Given the description of an element on the screen output the (x, y) to click on. 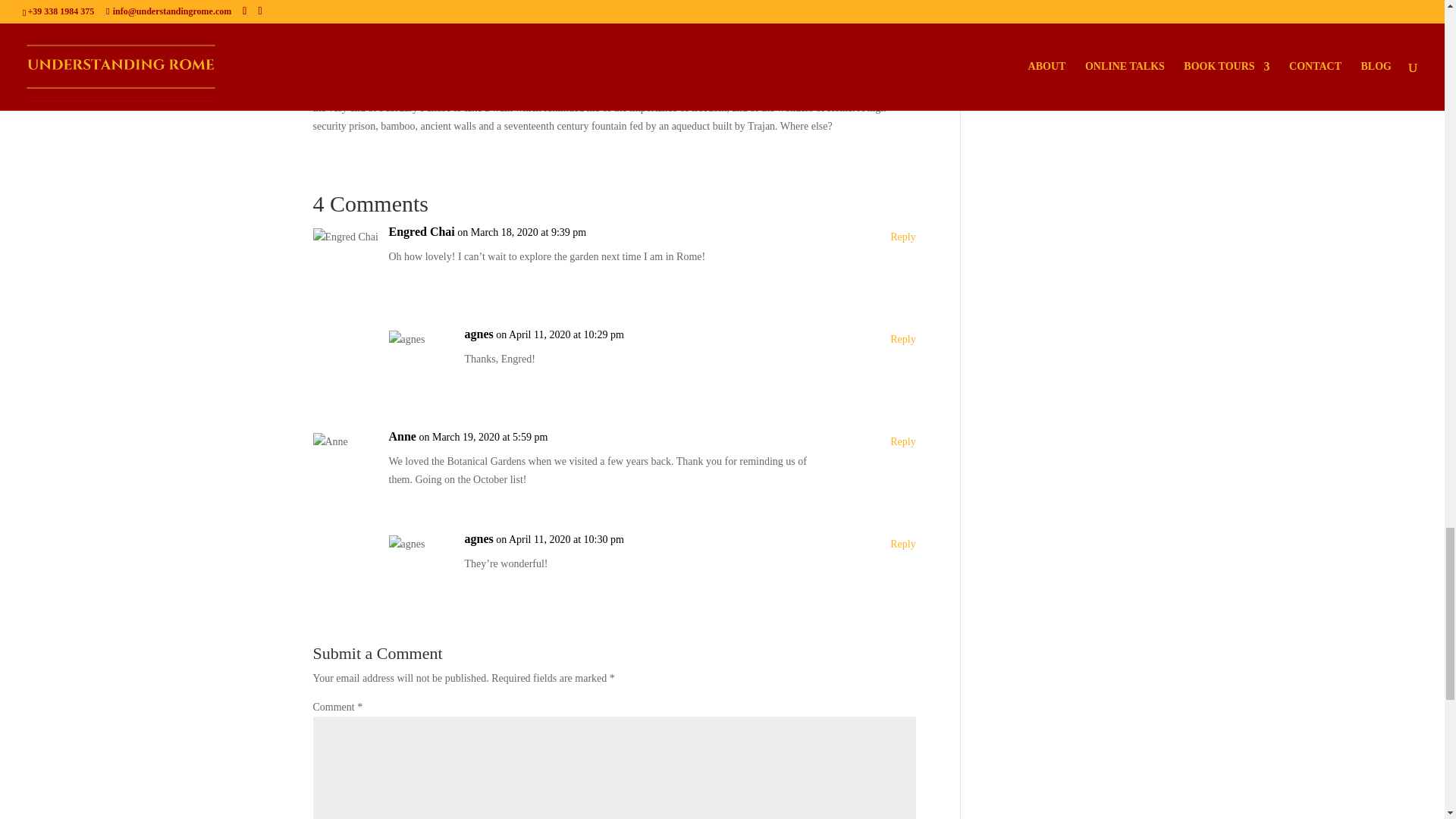
Anne (401, 436)
Reply (902, 339)
Reply (902, 442)
Reply (902, 237)
Reply (902, 544)
